Given the description of an element on the screen output the (x, y) to click on. 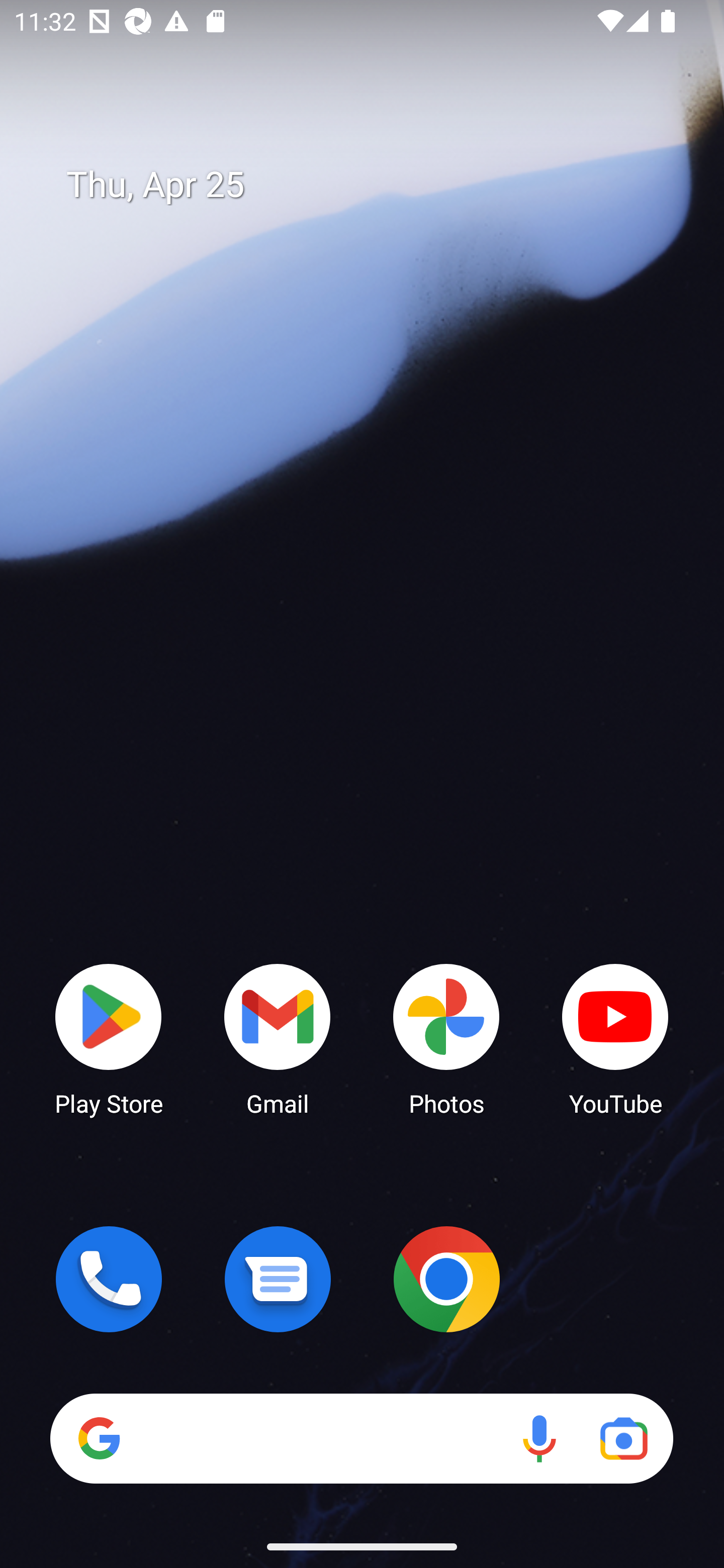
Thu, Apr 25 (375, 184)
Play Store (108, 1038)
Gmail (277, 1038)
Photos (445, 1038)
YouTube (615, 1038)
Phone (108, 1279)
Messages (277, 1279)
Chrome (446, 1279)
Search Voice search Google Lens (361, 1438)
Voice search (539, 1438)
Google Lens (623, 1438)
